Given the description of an element on the screen output the (x, y) to click on. 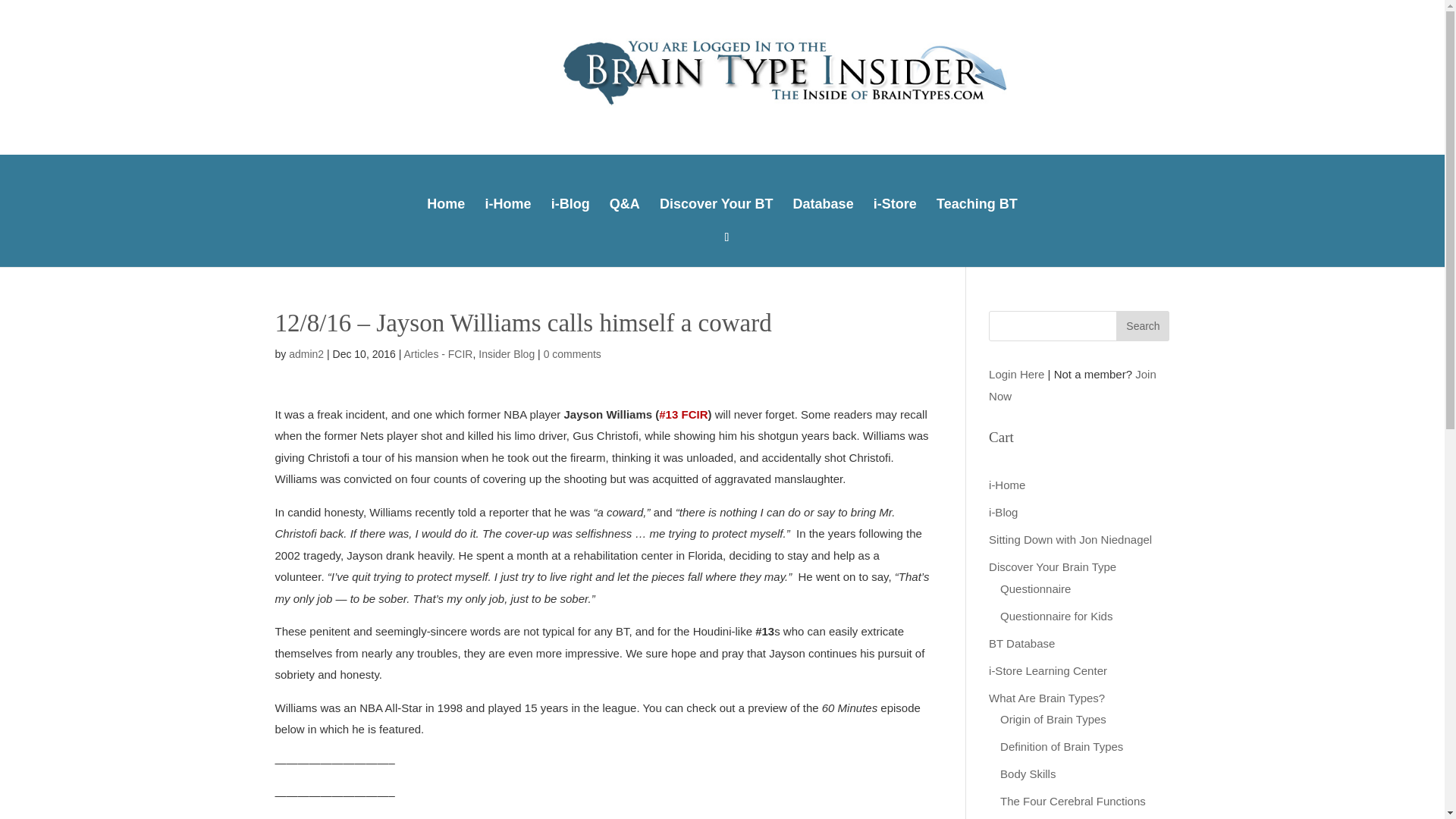
Questionnaire for Kids (1056, 615)
Body Skills (1027, 773)
Login Here (1015, 373)
i-Blog (1002, 512)
BT Database (1021, 643)
What Are Brain Types? (1046, 697)
admin2 (305, 354)
Join Now (1072, 384)
Sitting Down with Jon Niednagel (1069, 539)
Discover Your BT (716, 202)
